Given the description of an element on the screen output the (x, y) to click on. 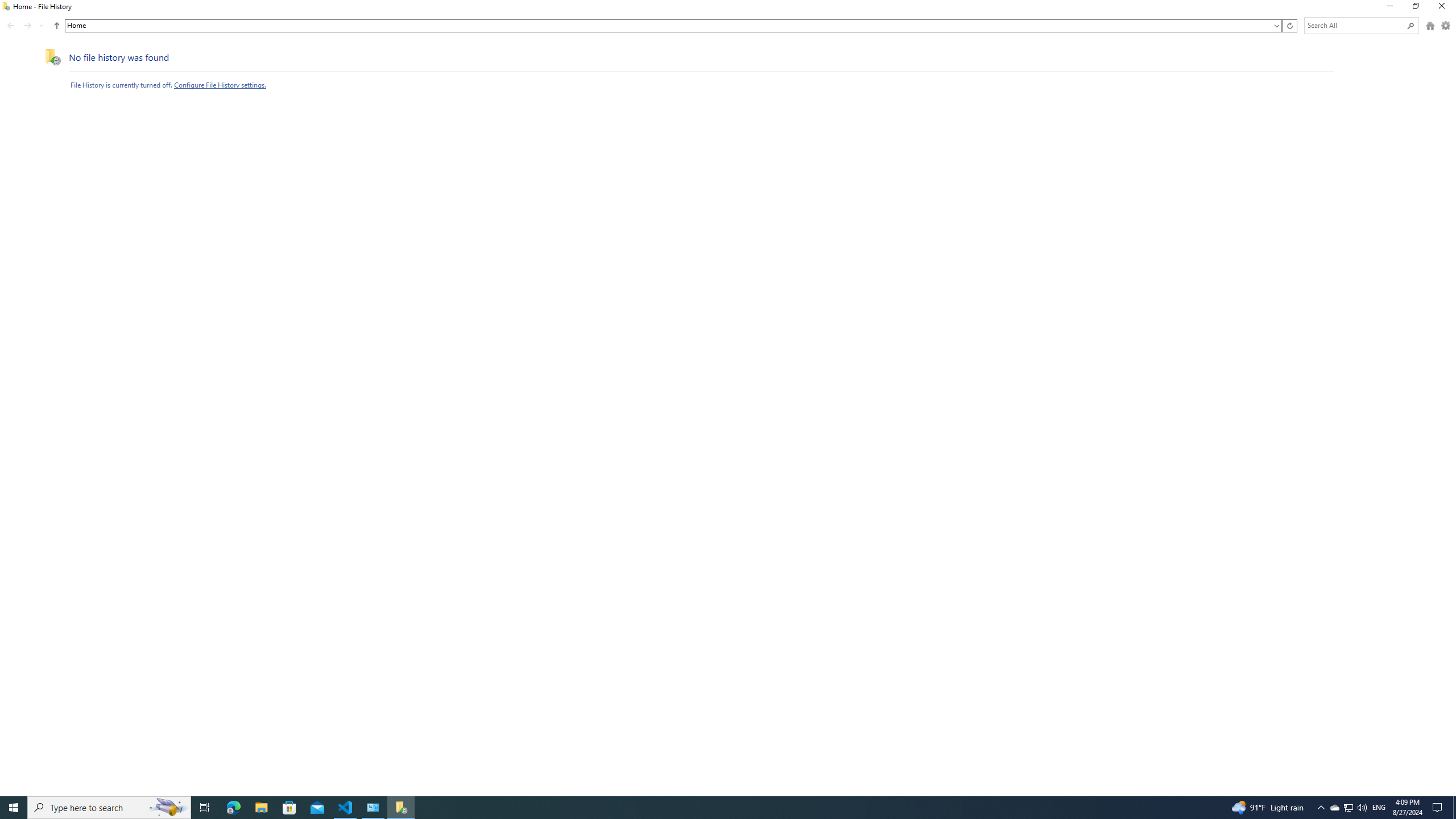
AutomationID: 1001 (668, 26)
Restore (1415, 8)
Class: ComboBox (673, 25)
System (6, 6)
Navigation buttons (25, 26)
Control Panel - 1 running window (373, 807)
File History - 1 running window (400, 807)
Home (Alt + H) (1430, 25)
